Given the description of an element on the screen output the (x, y) to click on. 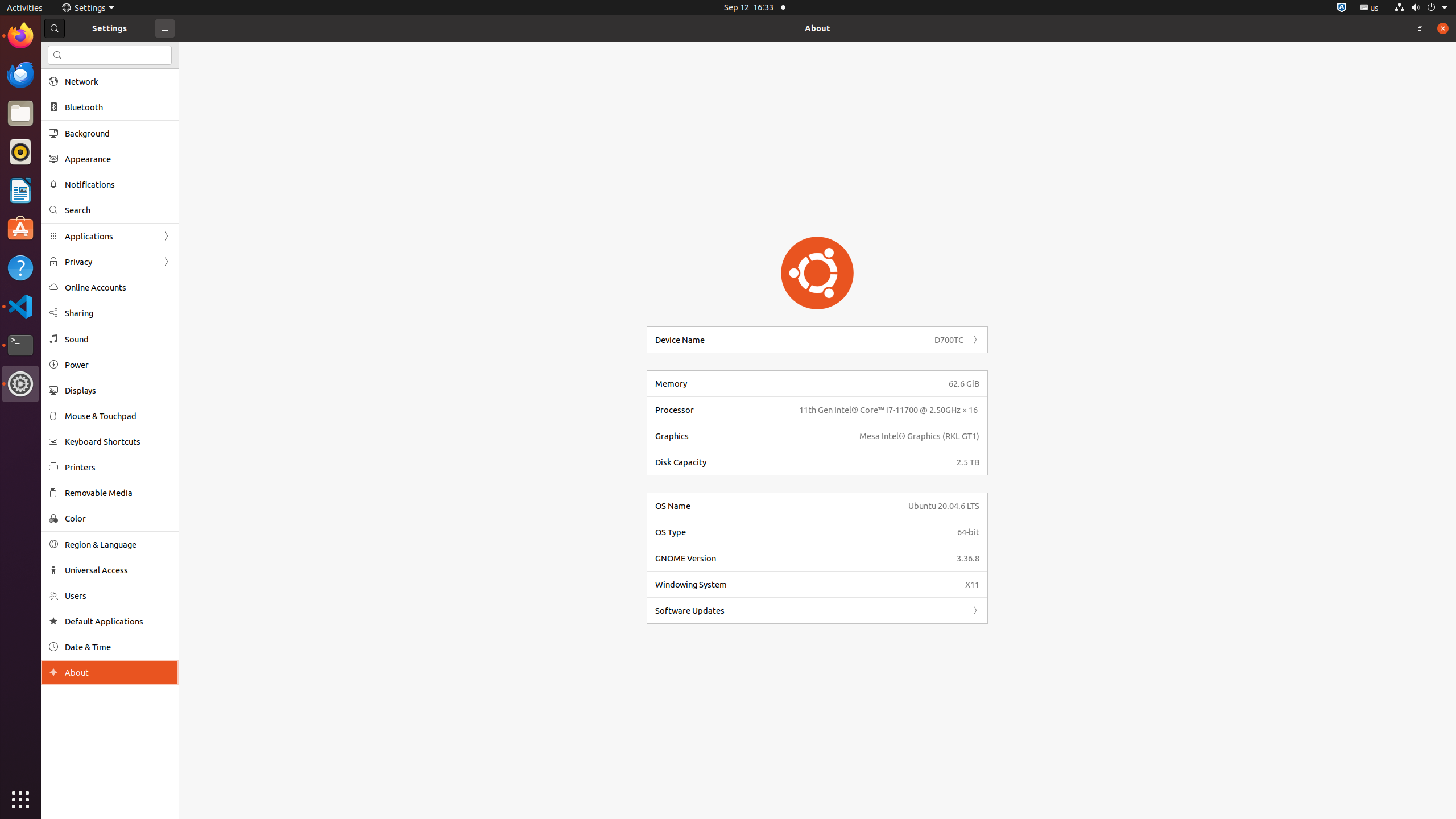
Removable Media Element type: label (117, 492)
Printers Element type: label (117, 467)
62.6 GiB Element type: label (963, 383)
Notifications Element type: label (117, 184)
Graphics Element type: label (753, 435)
